Given the description of an element on the screen output the (x, y) to click on. 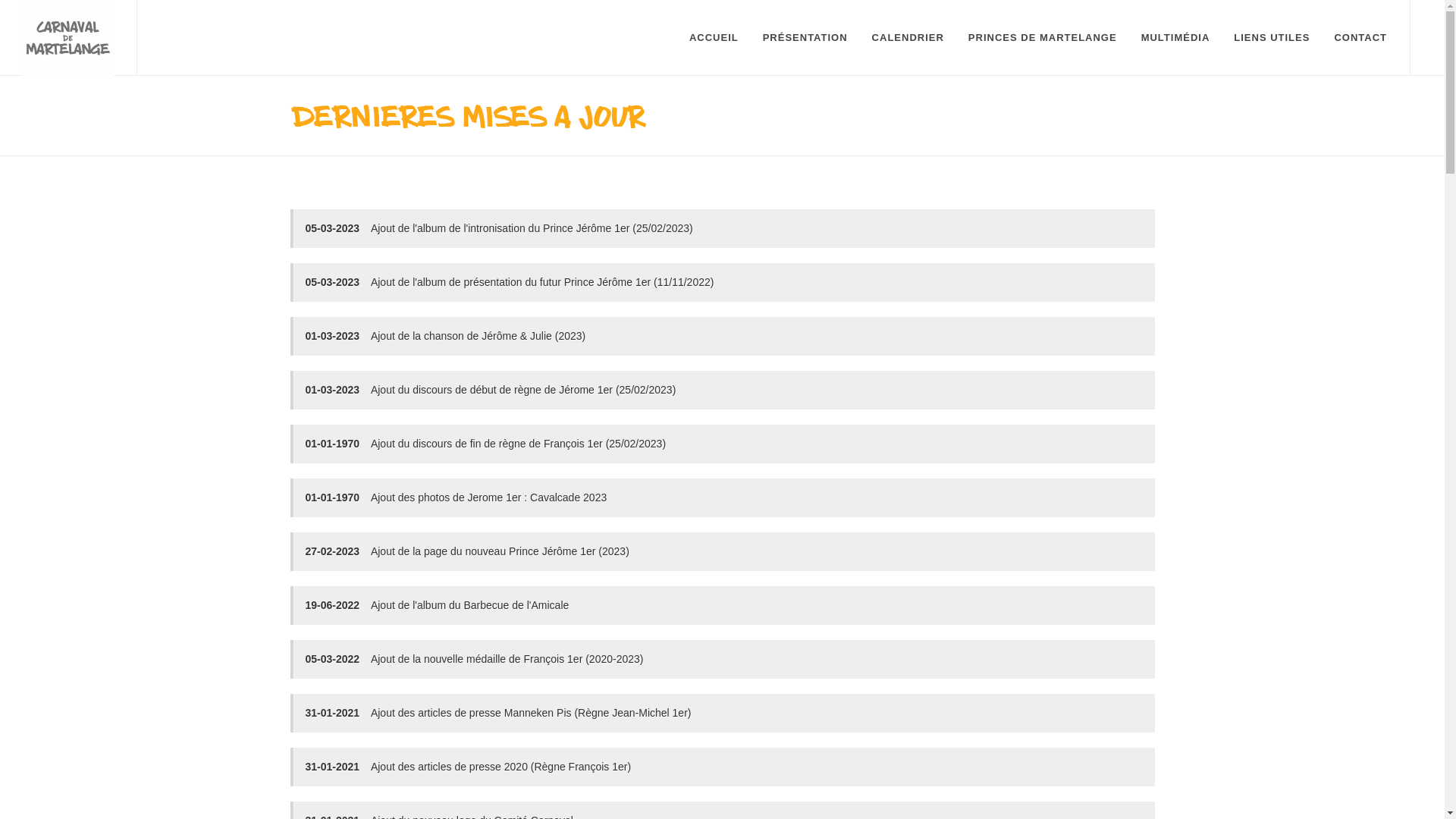
ACCUEIL Element type: text (713, 37)
19-06-2022    Ajout de l'album du Barbecue de l'Amicale Element type: text (436, 605)
CONTACT Element type: text (1360, 37)
PRINCES DE MARTELANGE Element type: text (1042, 37)
LIENS UTILES Element type: text (1271, 37)
CALENDRIER Element type: text (907, 37)
